Given the description of an element on the screen output the (x, y) to click on. 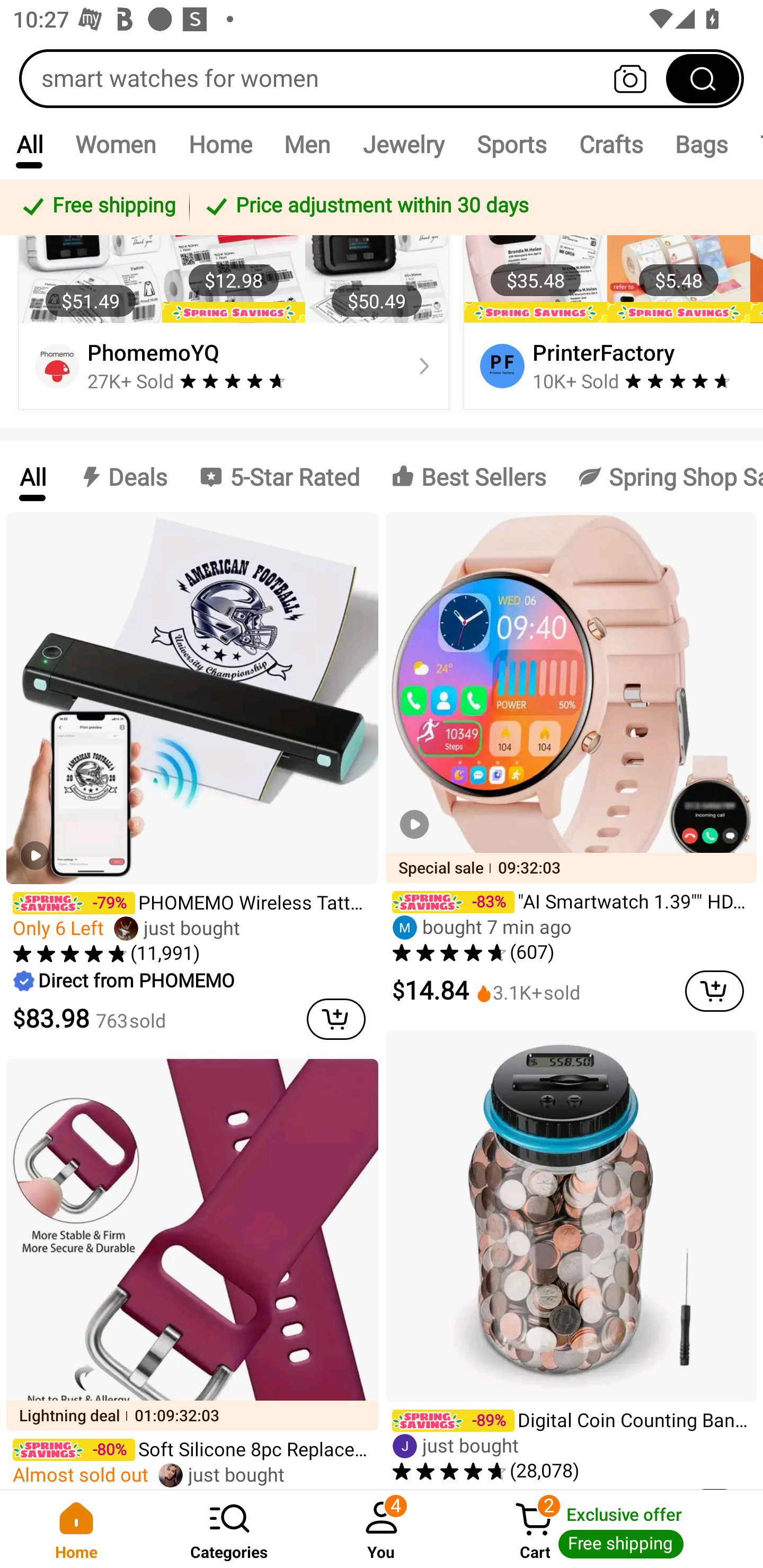
smart watches for women (381, 78)
All (29, 144)
Women (115, 144)
Home (219, 144)
Men (306, 144)
Jewelry (403, 144)
Sports (511, 144)
Crafts (611, 144)
Bags (701, 144)
$51.49 $12.98 $50.49 PhomemoYQ 27K+ Sold (233, 297)
$35.48 $5.48 PrinterFactory 10K+ Sold (610, 297)
Free shipping (97, 206)
Price adjustment within 30 days (472, 206)
All (32, 476)
Deals Deals Deals (122, 476)
5-Star Rated 5-Star Rated 5-Star Rated (279, 476)
Best Sellers Best Sellers Best Sellers (468, 476)
Spring Shop Save Spring Shop Save Spring Shop Save (662, 476)
cart delete (714, 990)
cart delete (335, 1018)
Home (76, 1528)
Categories (228, 1528)
You 4 You (381, 1528)
Cart 2 Cart Exclusive offer (610, 1528)
